Given the description of an element on the screen output the (x, y) to click on. 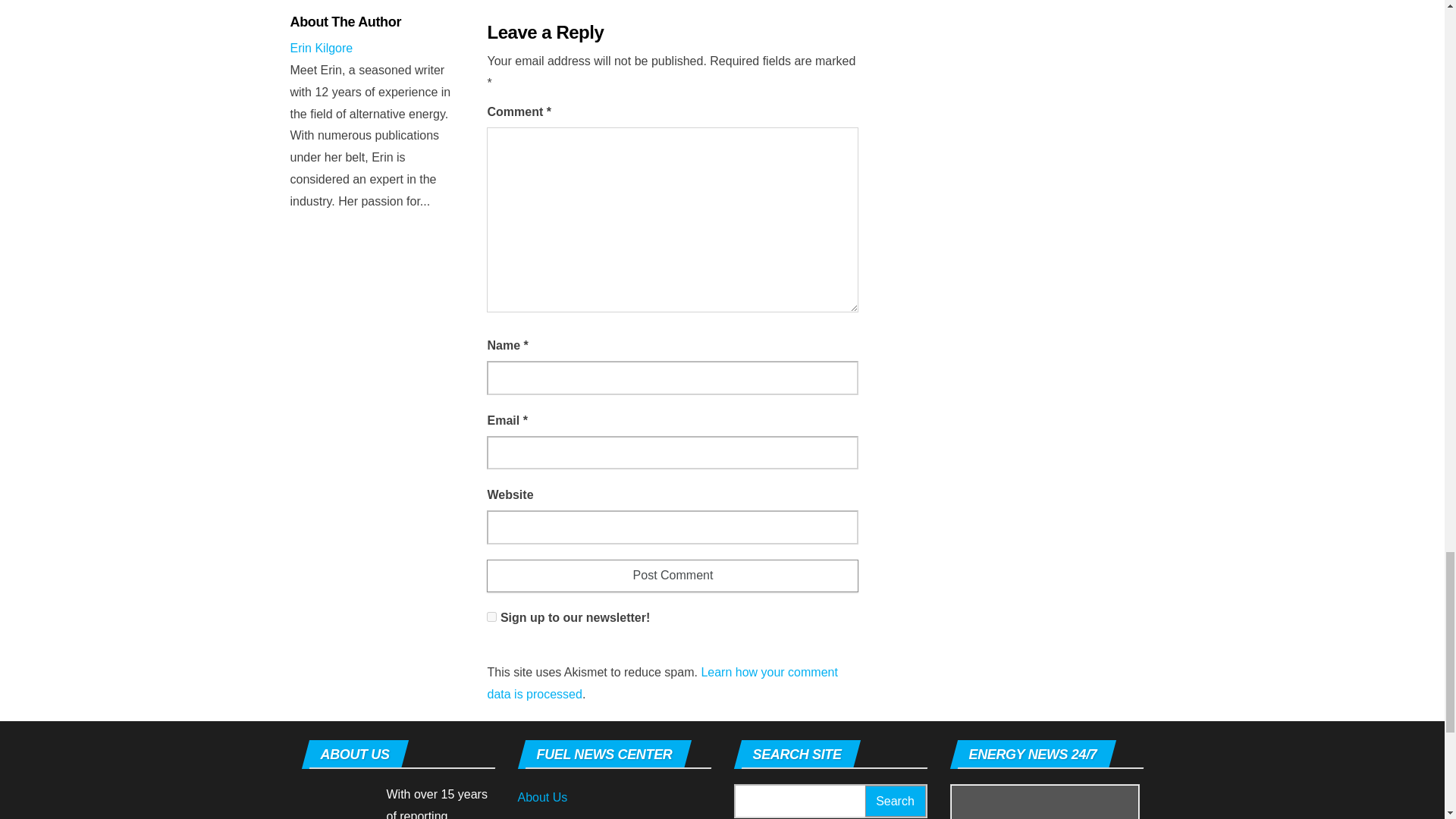
1 (491, 616)
Post Comment (672, 575)
Search (894, 800)
